Given the description of an element on the screen output the (x, y) to click on. 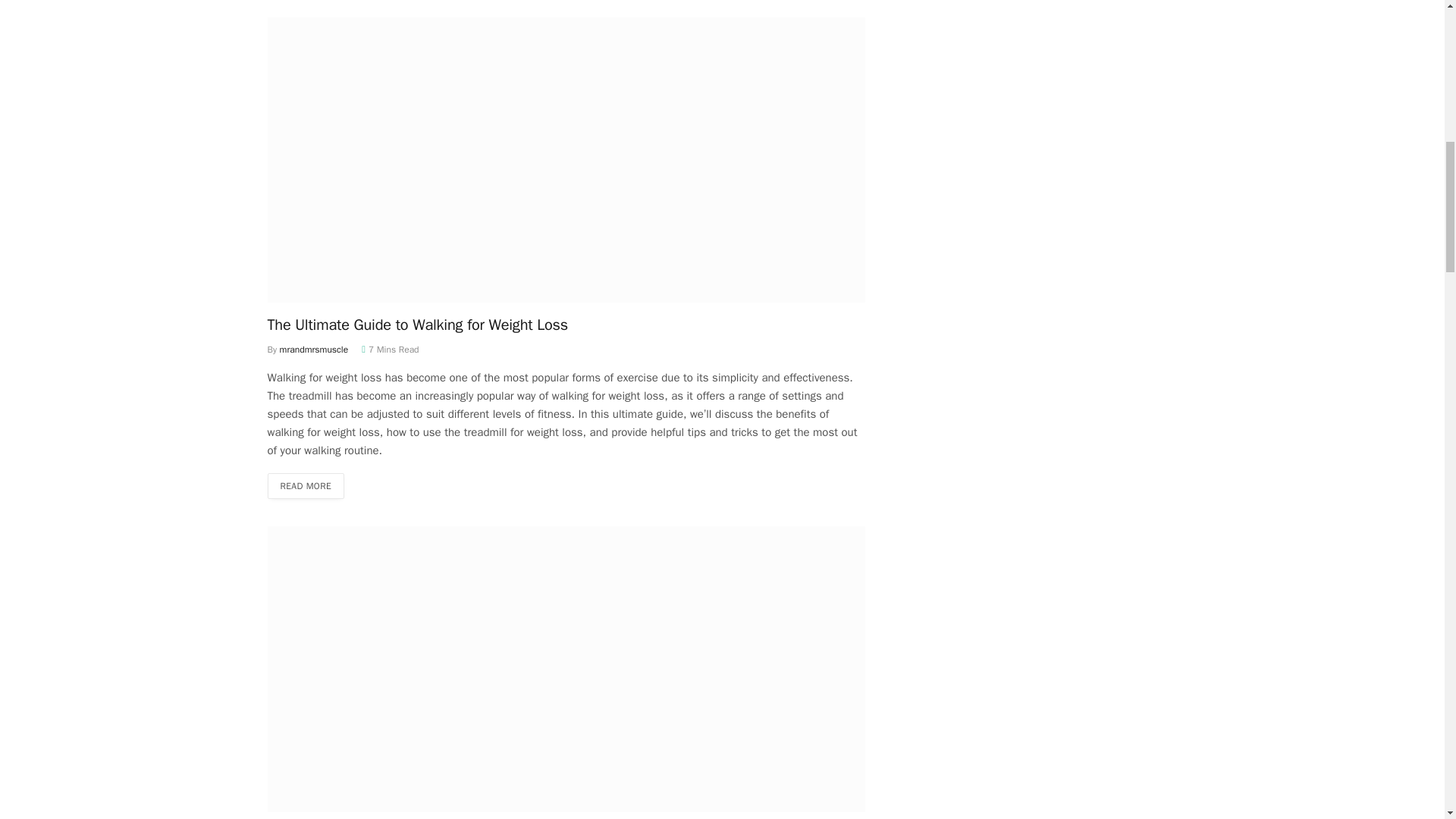
Posts by mrandmrsmuscle (314, 349)
